Given the description of an element on the screen output the (x, y) to click on. 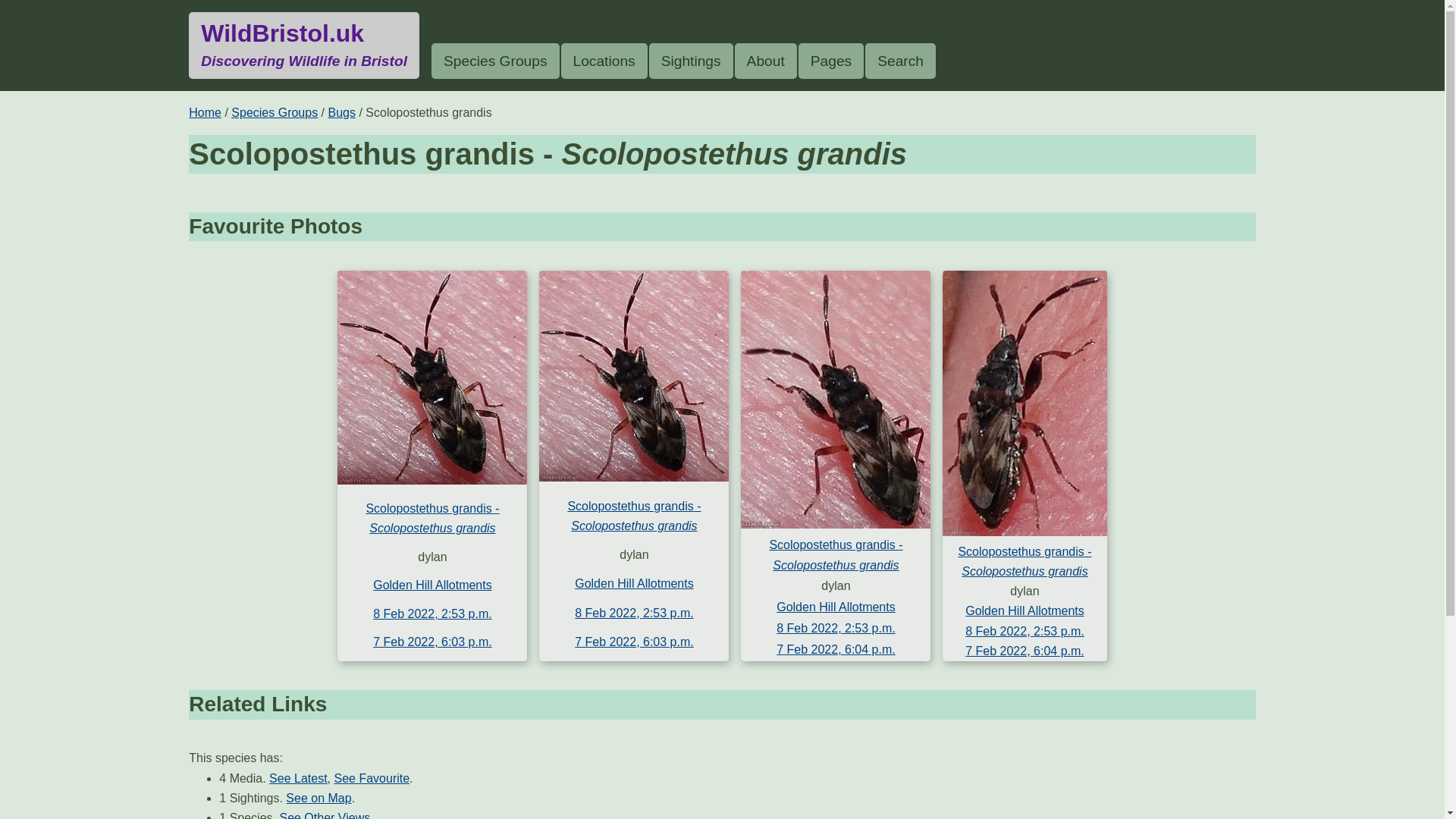
7 Feb 2022, 6:04 p.m. (835, 649)
Pages (830, 60)
Species Groups (274, 112)
Home (205, 112)
Golden Hill Allotments (634, 583)
7 Feb 2022, 6:04 p.m. (1024, 650)
8 Feb 2022, 2:53 p.m. (634, 612)
Locations (603, 60)
8 Feb 2022, 2:53 p.m. (1024, 631)
7 Feb 2022, 6:03 p.m. (634, 641)
See Latest (304, 45)
8 Feb 2022, 2:53 p.m. (298, 778)
7 Feb 2022, 6:03 p.m. (835, 627)
Golden Hill Allotments (432, 641)
